Given the description of an element on the screen output the (x, y) to click on. 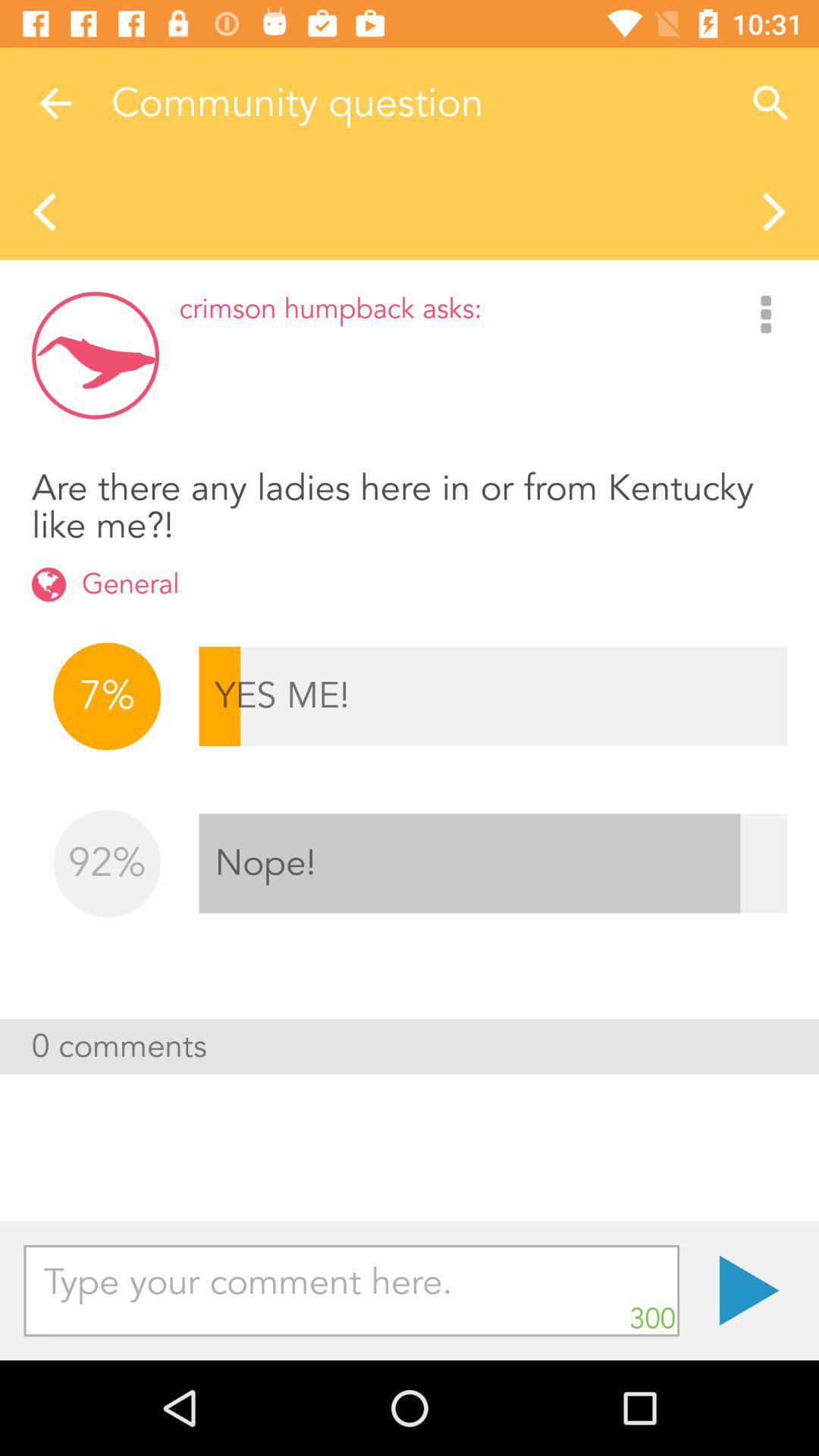
launch icon below the 0 comments item (749, 1290)
